Given the description of an element on the screen output the (x, y) to click on. 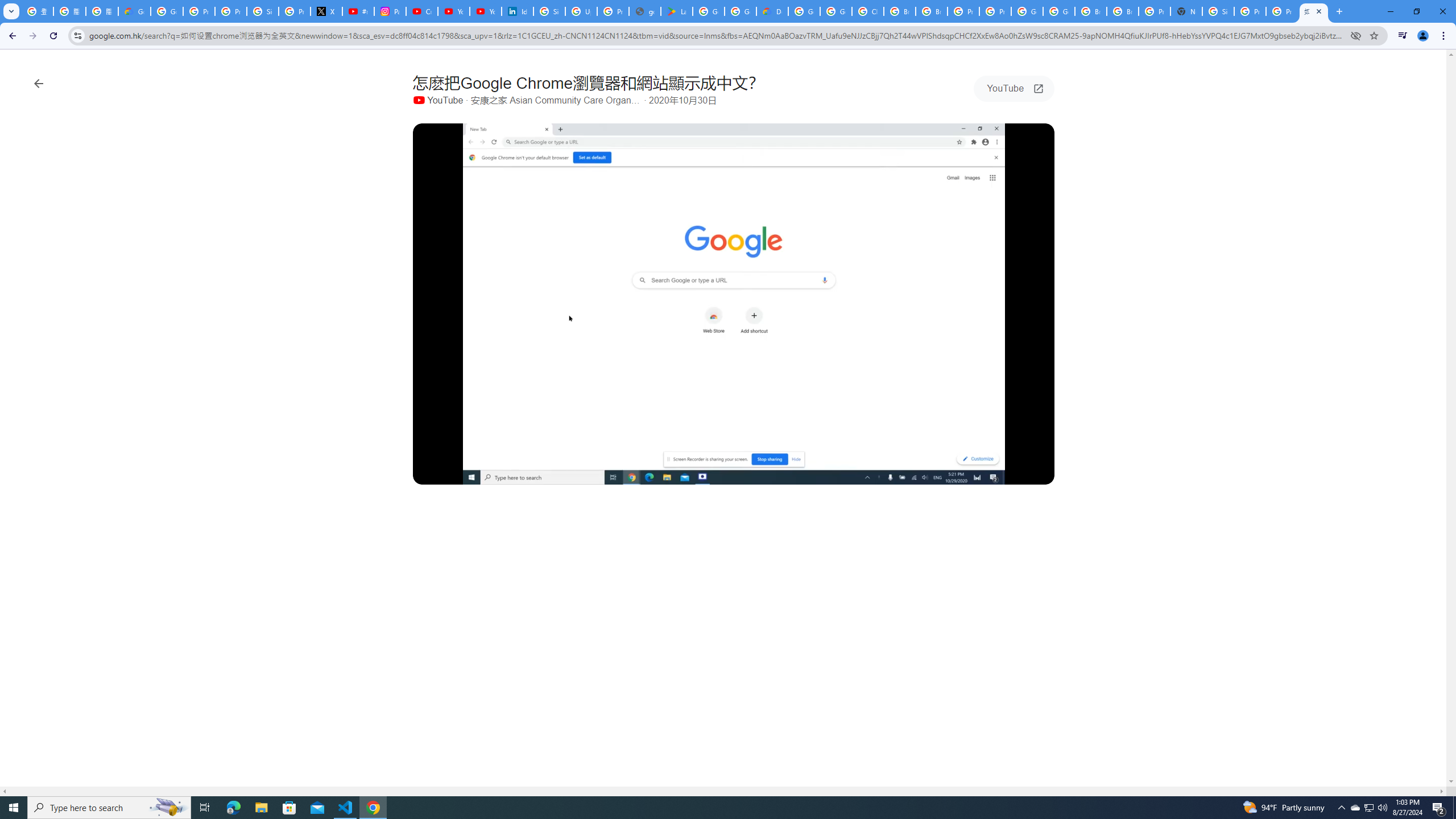
X (326, 11)
Google Cloud Privacy Notice (134, 11)
Sign in - Google Accounts (1217, 11)
New Tab (1185, 11)
